Given the description of an element on the screen output the (x, y) to click on. 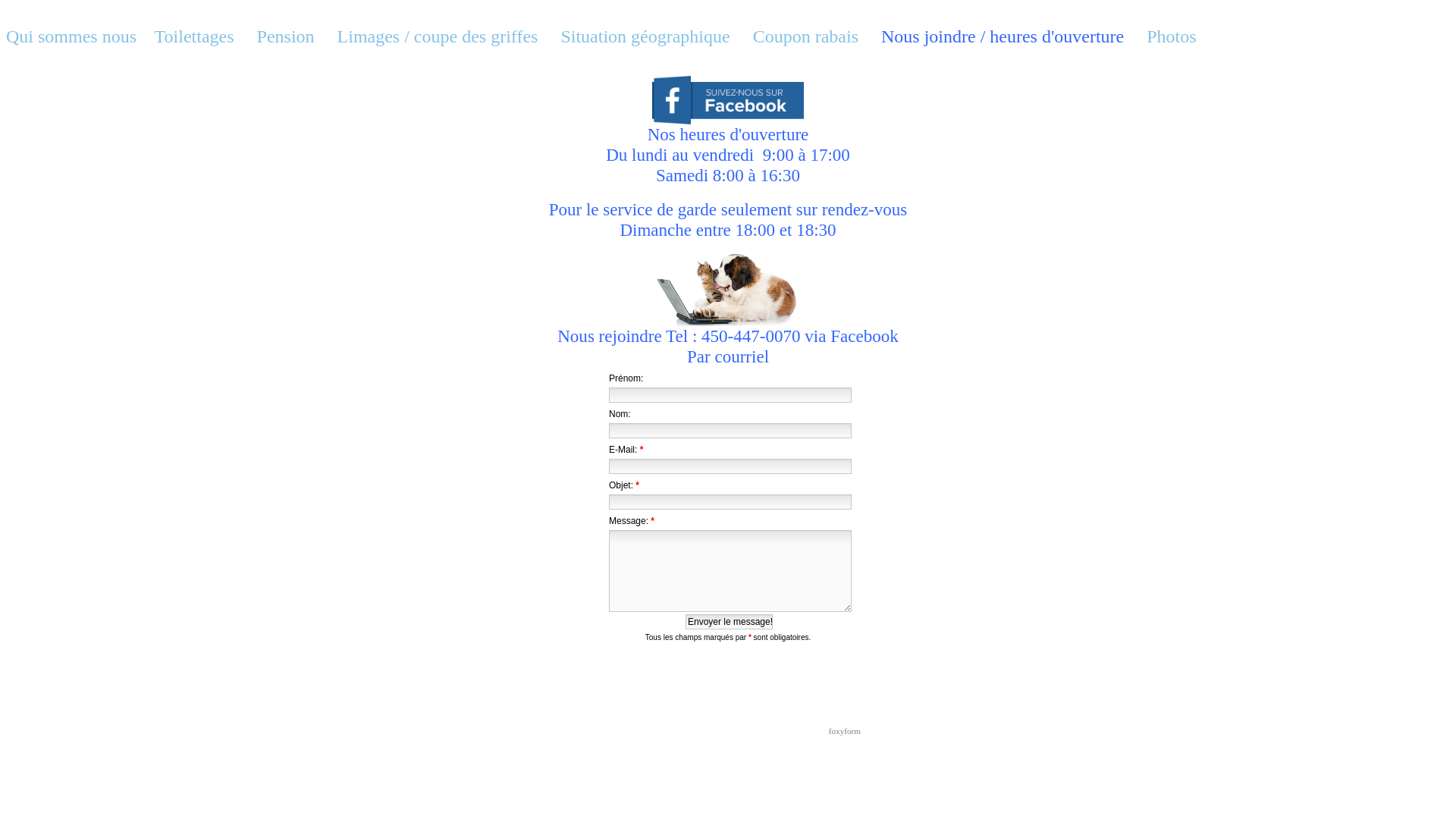
Pension Element type: text (283, 36)
Photos Element type: text (1168, 36)
Toilettages  Element type: text (196, 36)
foxyform Element type: text (727, 730)
Facebook Element type: text (864, 335)
Coupon rabais Element type: text (805, 36)
Limages / coupe des griffes  Element type: text (439, 36)
Qui sommes nous  Element type: text (73, 36)
